Given the description of an element on the screen output the (x, y) to click on. 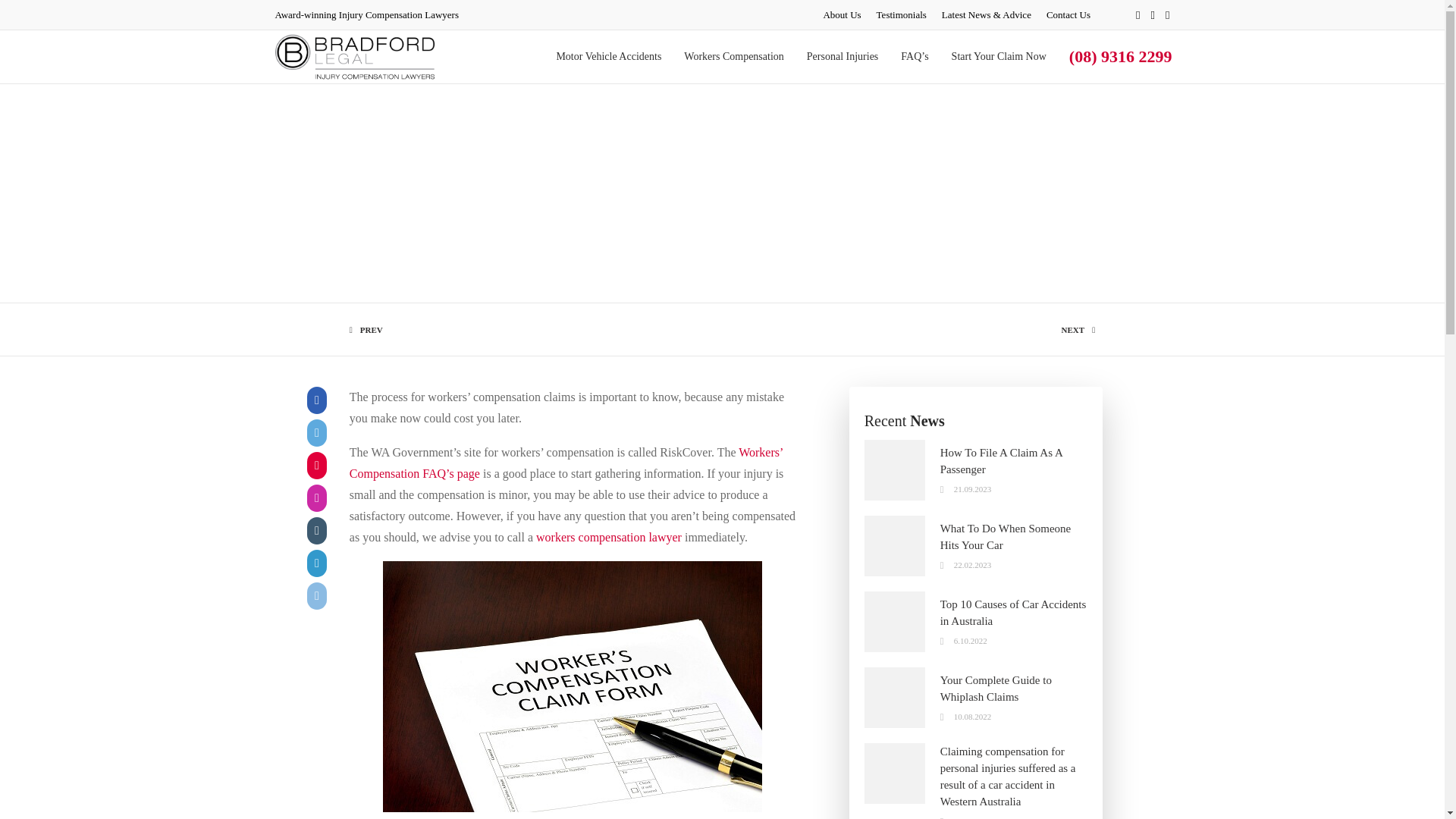
Motor Vehicle Accidents (608, 56)
What To Do When Someone Hits Your Car (1005, 536)
About Us (841, 14)
Permalink to How To File A Claim As A Passenger (1001, 460)
Contact Us (1068, 14)
Testimonials (901, 14)
Site logo (354, 56)
LinkedIN (1152, 15)
Personal Injuries (841, 56)
Twitter (1167, 15)
